Given the description of an element on the screen output the (x, y) to click on. 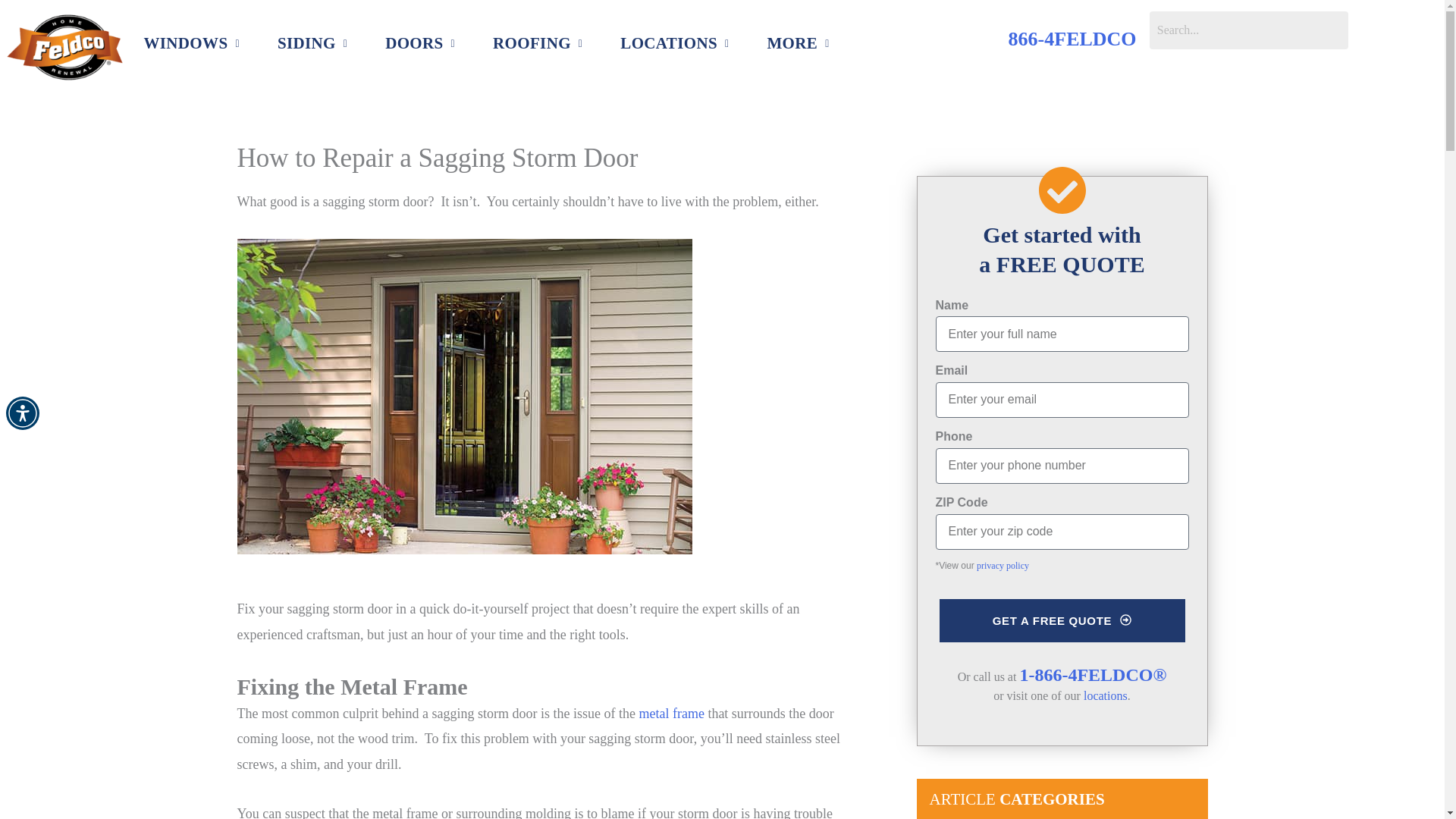
DOORS (420, 43)
WINDOWS (190, 43)
ROOFING (536, 43)
Accessibility Menu (22, 412)
SIDING (312, 43)
Search (1249, 30)
LOCATIONS (674, 43)
